Given the description of an element on the screen output the (x, y) to click on. 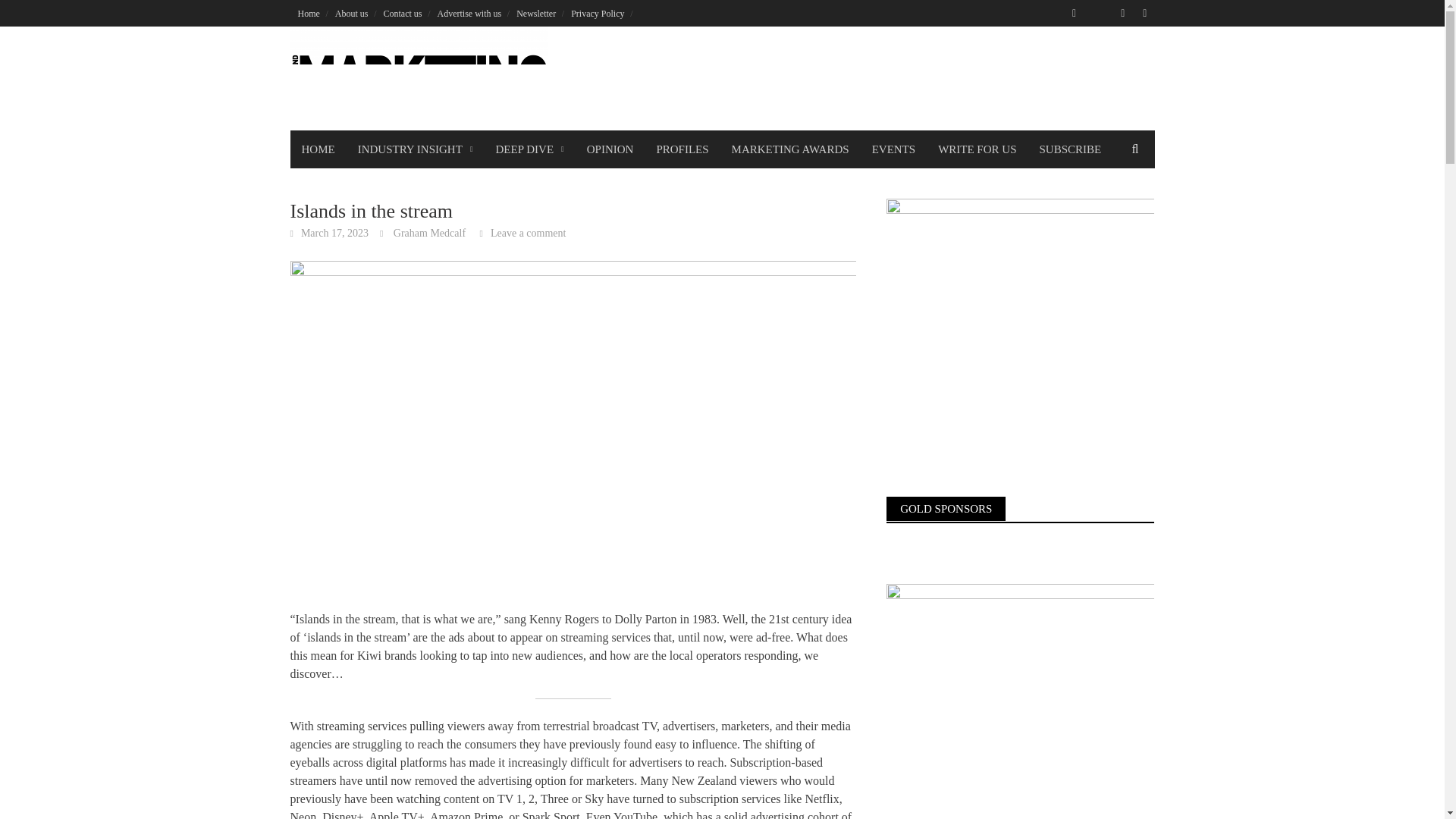
MARKETING AWARDS (790, 149)
Find us on Twitter (1097, 13)
EVENTS (893, 149)
DEEP DIVE (529, 149)
SUBSCRIBE (1069, 149)
Newsletter (535, 13)
About us (351, 13)
Advertise with us (468, 13)
Home (307, 13)
INDUSTRY INSIGHT (415, 149)
